Given the description of an element on the screen output the (x, y) to click on. 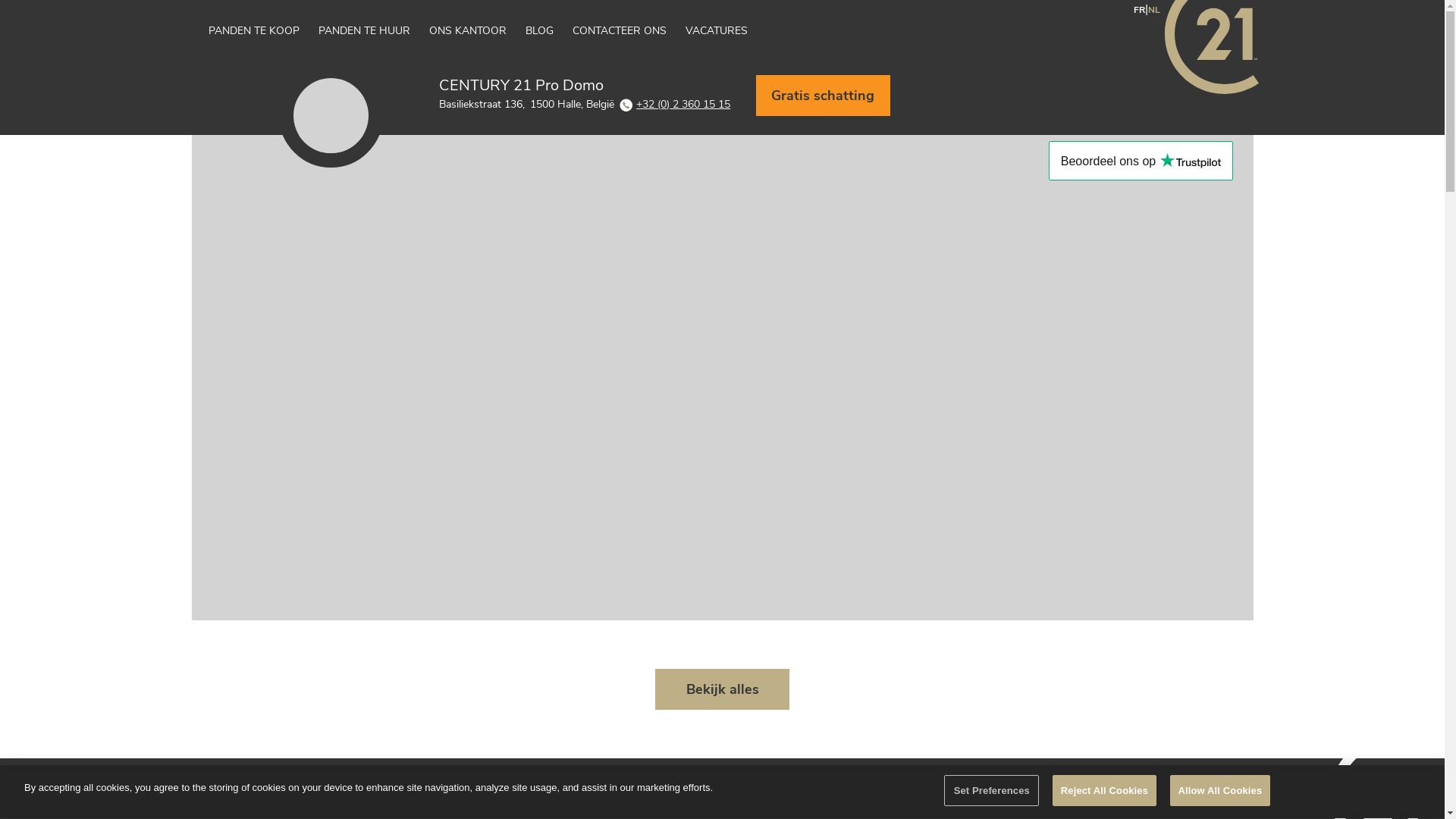
Bekijk alles Element type: text (722, 688)
BLOG Element type: text (548, 31)
Set Preferences Element type: text (991, 790)
ONS KANTOOR Element type: text (477, 31)
Customer reviews powered by Trustpilot Element type: hover (1140, 160)
VACATURES Element type: text (725, 31)
PANDEN TE KOOP Element type: text (263, 31)
NL Element type: text (1154, 8)
+32 (0) 2 360 15 15 Element type: text (674, 104)
Allow All Cookies Element type: text (1220, 790)
Reject All Cookies Element type: text (1104, 790)
PANDEN TE HUUR Element type: text (373, 31)
FR Element type: text (1139, 8)
Gratis schatting Element type: text (823, 95)
Gratis schatting Element type: text (809, 129)
CONTACTEER ONS Element type: text (628, 31)
